Given the description of an element on the screen output the (x, y) to click on. 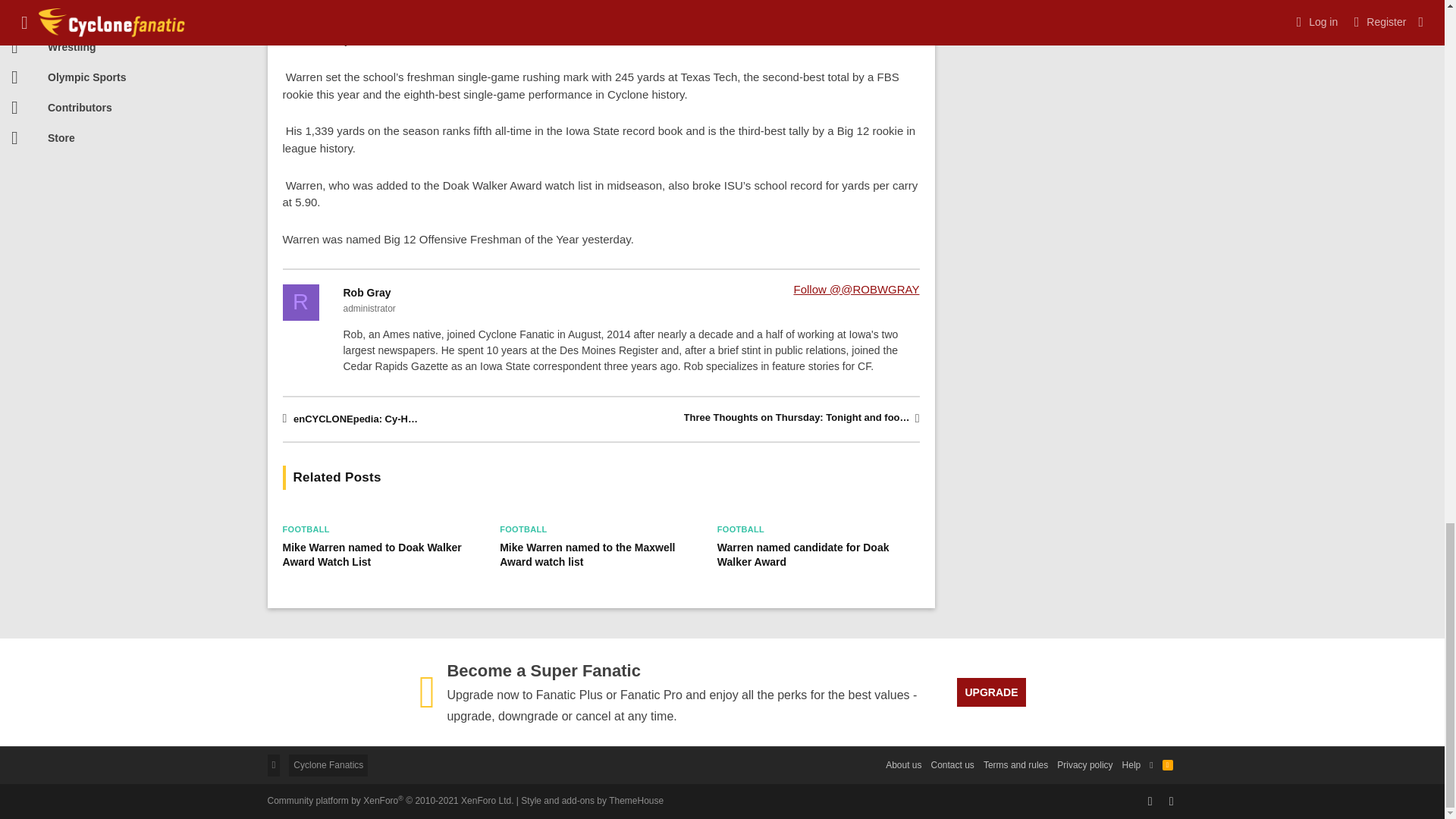
RSS (1167, 765)
